Given the description of an element on the screen output the (x, y) to click on. 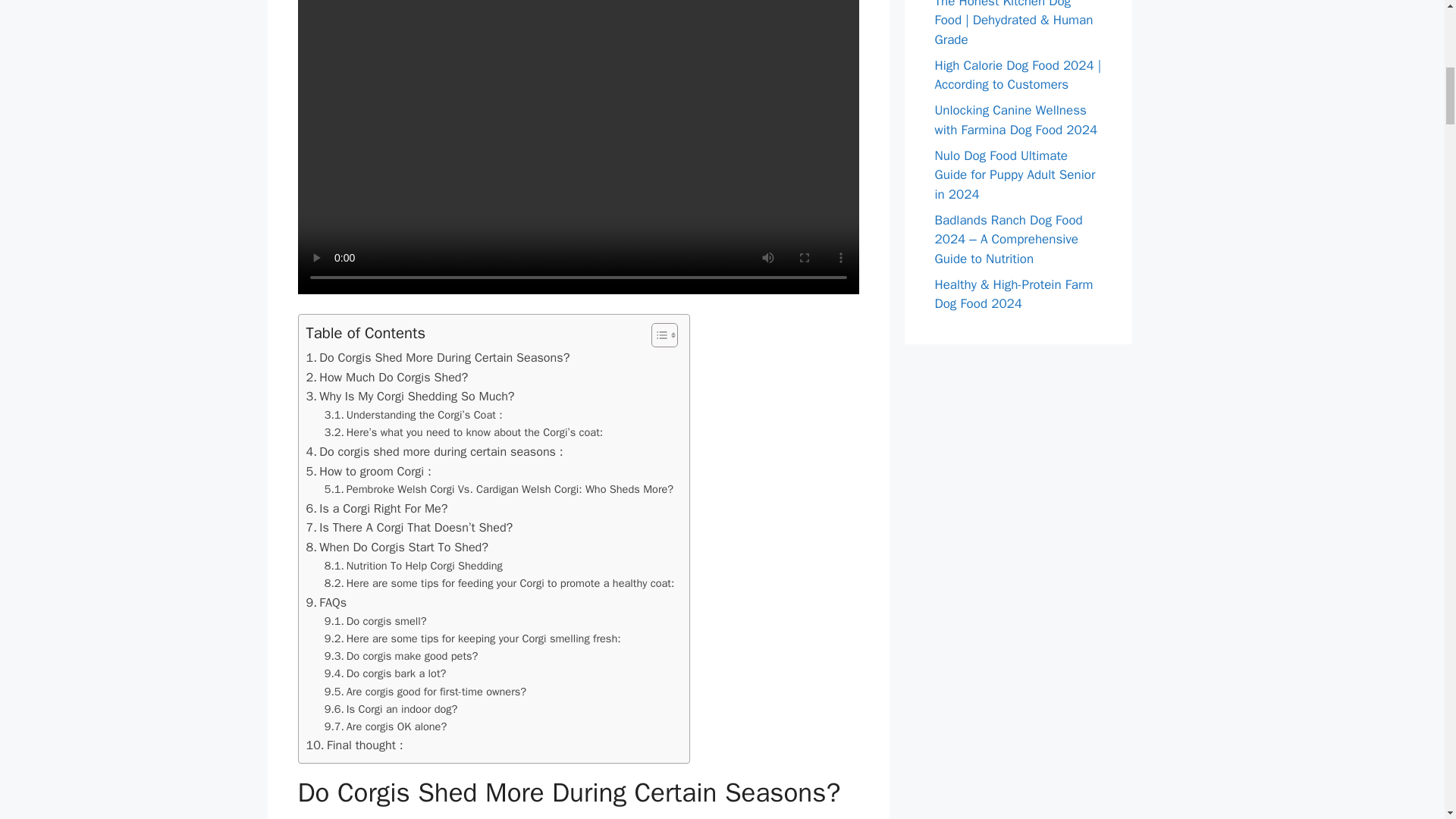
How Much Do Corgis Shed? (386, 377)
Do corgis shed more during certain seasons : (434, 451)
Do corgis make good pets? (401, 656)
Is Corgi an indoor dog? (391, 709)
Final thought : (354, 745)
Why Is My Corgi Shedding So Much? (410, 396)
When Do Corgis Start To Shed? (397, 547)
How Much Do Corgis Shed? (386, 377)
Do Corgis Shed More During Certain Seasons? (437, 357)
